Given the description of an element on the screen output the (x, y) to click on. 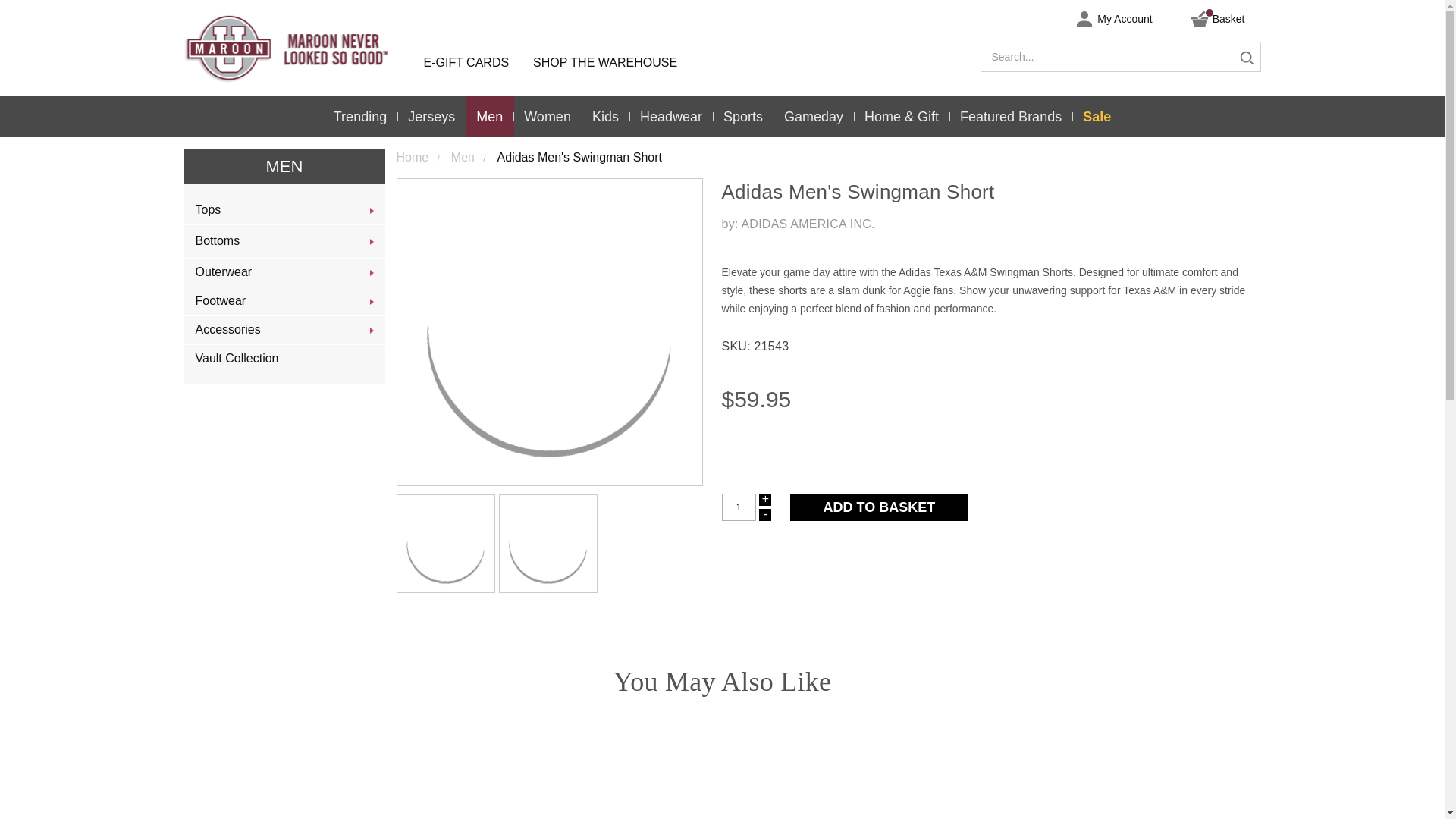
Maroon U (296, 48)
Trending (360, 116)
1 (738, 506)
E-GIFT CARDS (465, 62)
SHOP THE WAREHOUSE (604, 62)
Add To Basket (879, 506)
My Account (1106, 18)
Basket (1211, 18)
Jerseys (431, 116)
Men (489, 116)
Men (283, 166)
